Given the description of an element on the screen output the (x, y) to click on. 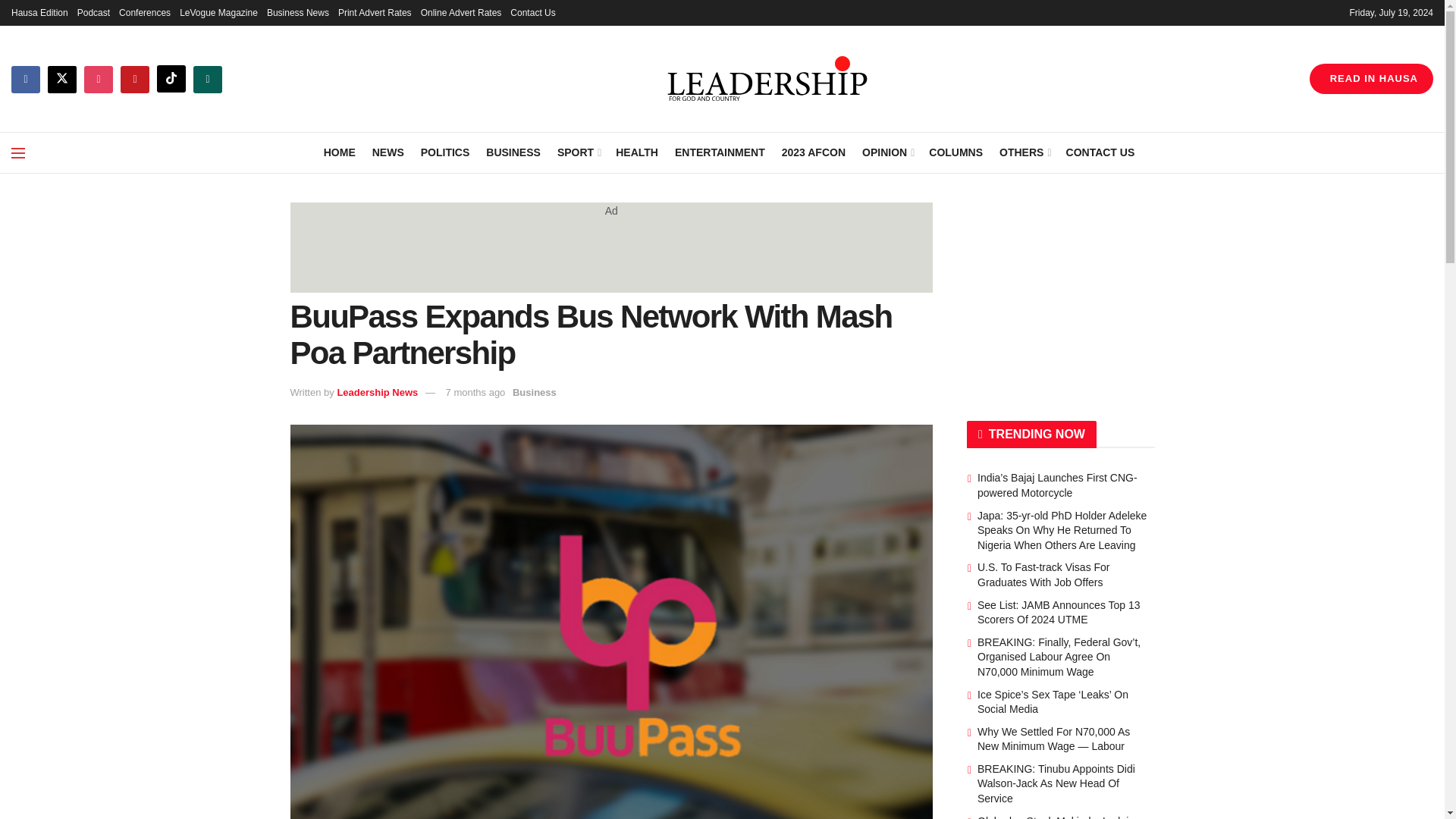
HEALTH (636, 151)
NEWS (388, 151)
BUSINESS (513, 151)
Conferences (144, 12)
Podcast (93, 12)
POLITICS (445, 151)
Online Advert Rates (461, 12)
Contact Us (532, 12)
HOME (339, 151)
LeVogue Magazine (218, 12)
SPORT (577, 151)
Business News (297, 12)
Hausa Edition (39, 12)
READ IN HAUSA (1370, 78)
